Given the description of an element on the screen output the (x, y) to click on. 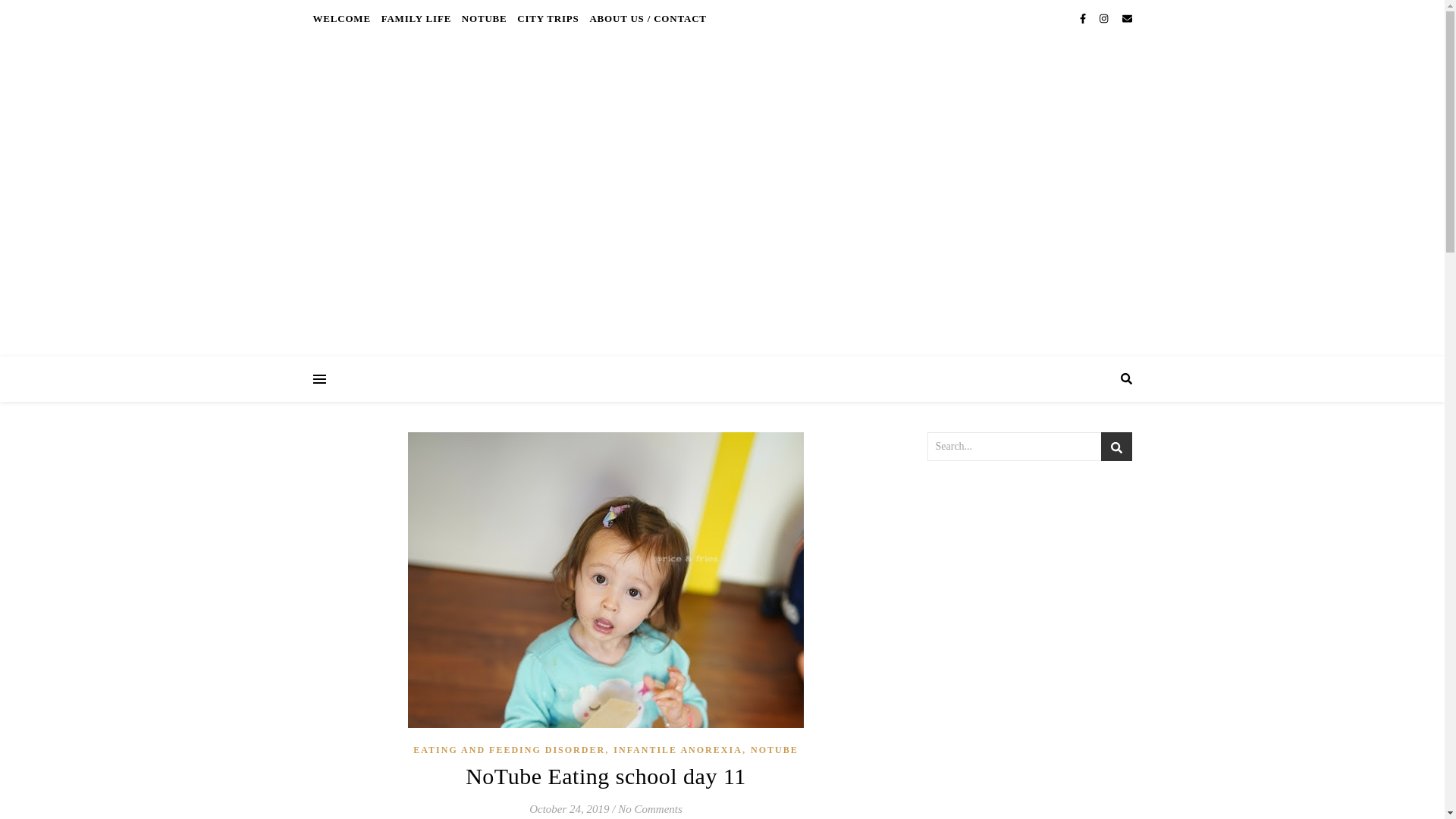
CITY TRIPS (547, 18)
INFANTILE ANOREXIA (676, 749)
st (1116, 447)
No Comments (649, 808)
FAMILY LIFE (415, 18)
EATING AND FEEDING DISORDER (509, 749)
NOTUBE (484, 18)
Rice and Fries (721, 196)
NOTUBE (774, 749)
WELCOME (343, 18)
